Given the description of an element on the screen output the (x, y) to click on. 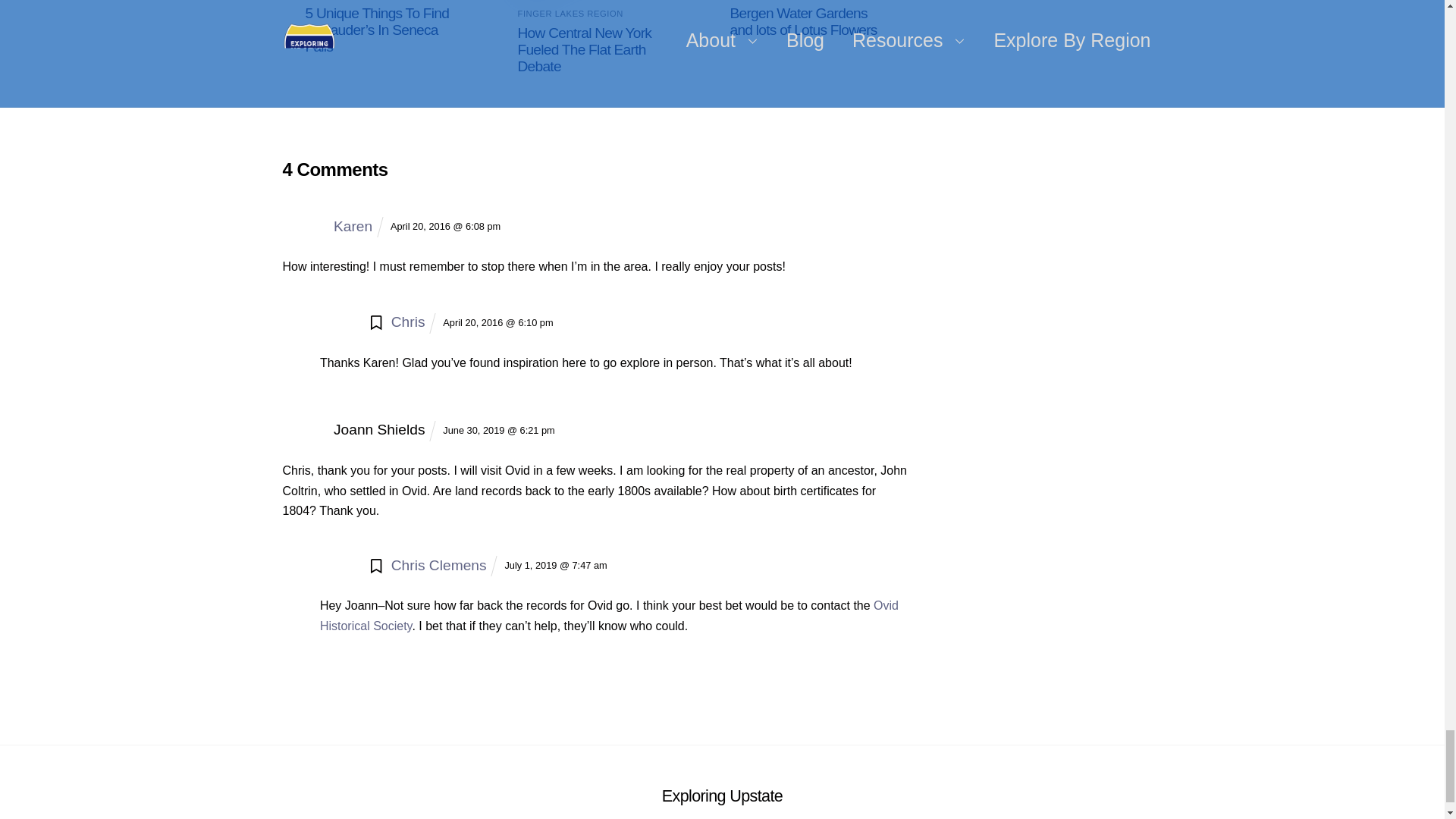
Exploring Upstate (722, 735)
Karen (352, 165)
How Central New York Fueled The Flat Earth Debate (721, 760)
